Given the description of an element on the screen output the (x, y) to click on. 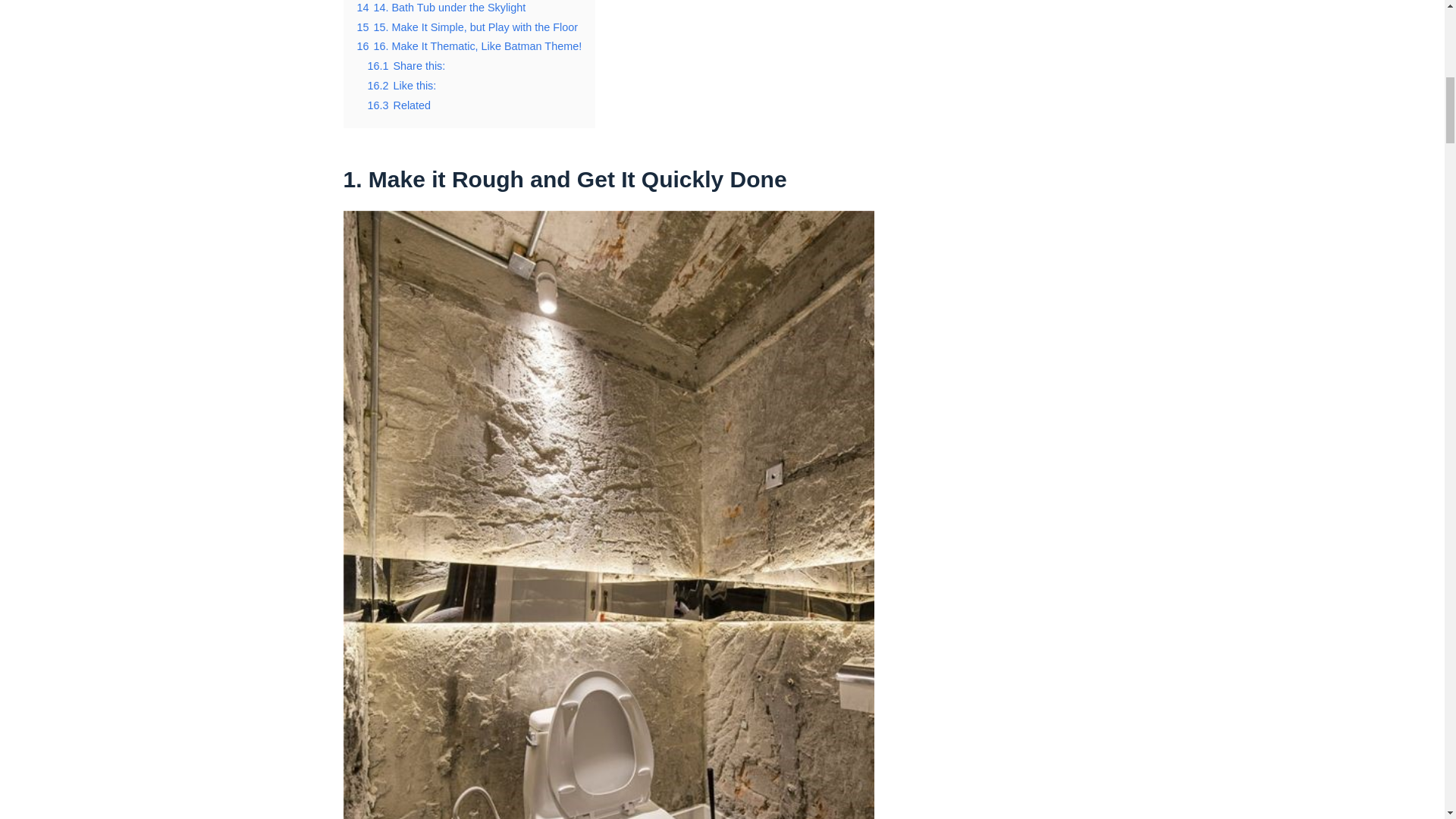
16 16. Make It Thematic, Like Batman Theme! (468, 46)
15 15. Make It Simple, but Play with the Floor (467, 27)
16.2 Like this: (400, 85)
16.1 Share this: (405, 65)
16.3 Related (398, 105)
14 14. Bath Tub under the Skylight (440, 7)
